Given the description of an element on the screen output the (x, y) to click on. 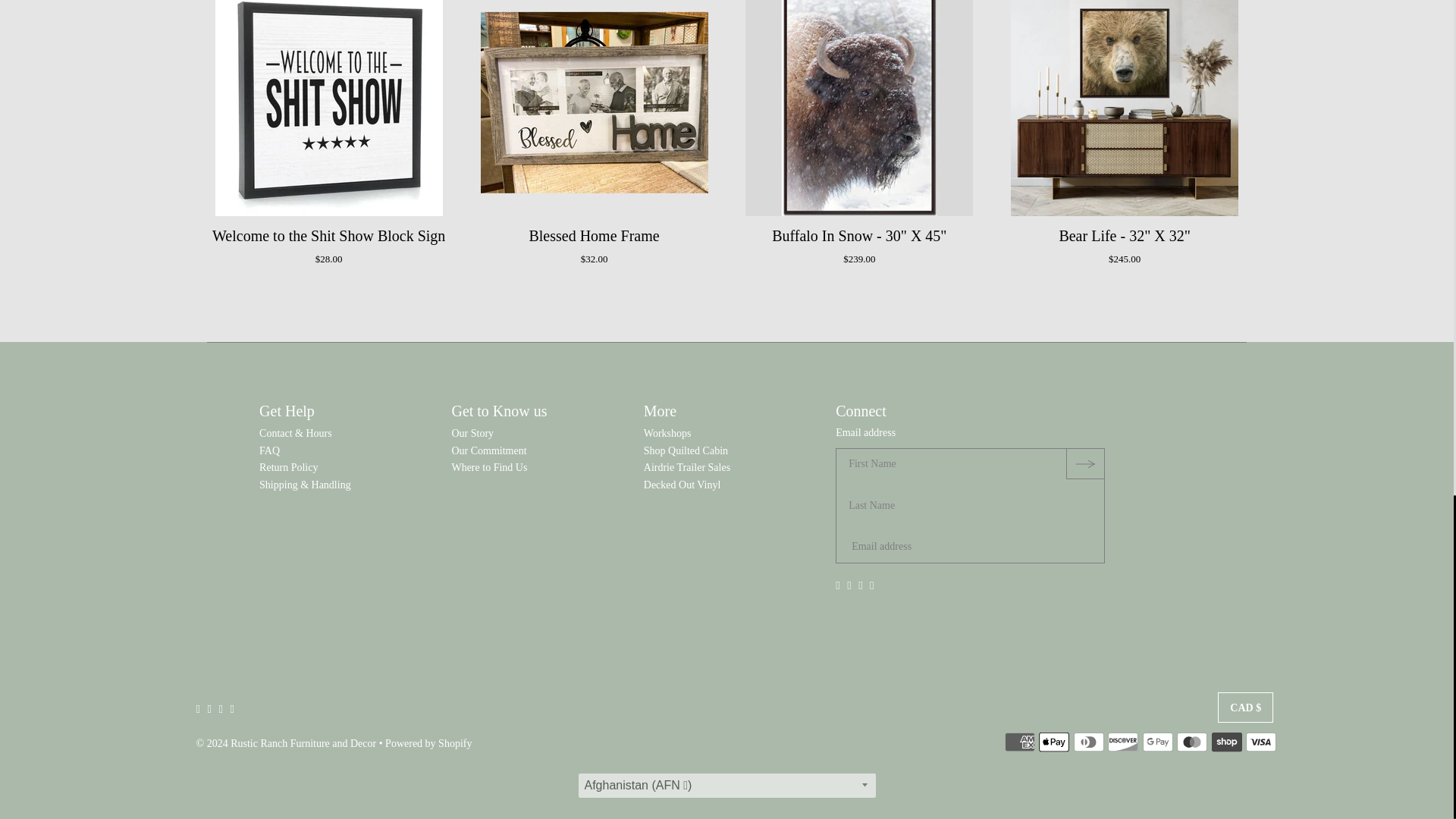
Visa (1261, 741)
Diners Club (1088, 741)
Mastercard (1191, 741)
Shop Pay (1226, 741)
Discover (1123, 741)
Google Pay (1157, 741)
Apple Pay (1053, 741)
American Express (1019, 741)
